Given the description of an element on the screen output the (x, y) to click on. 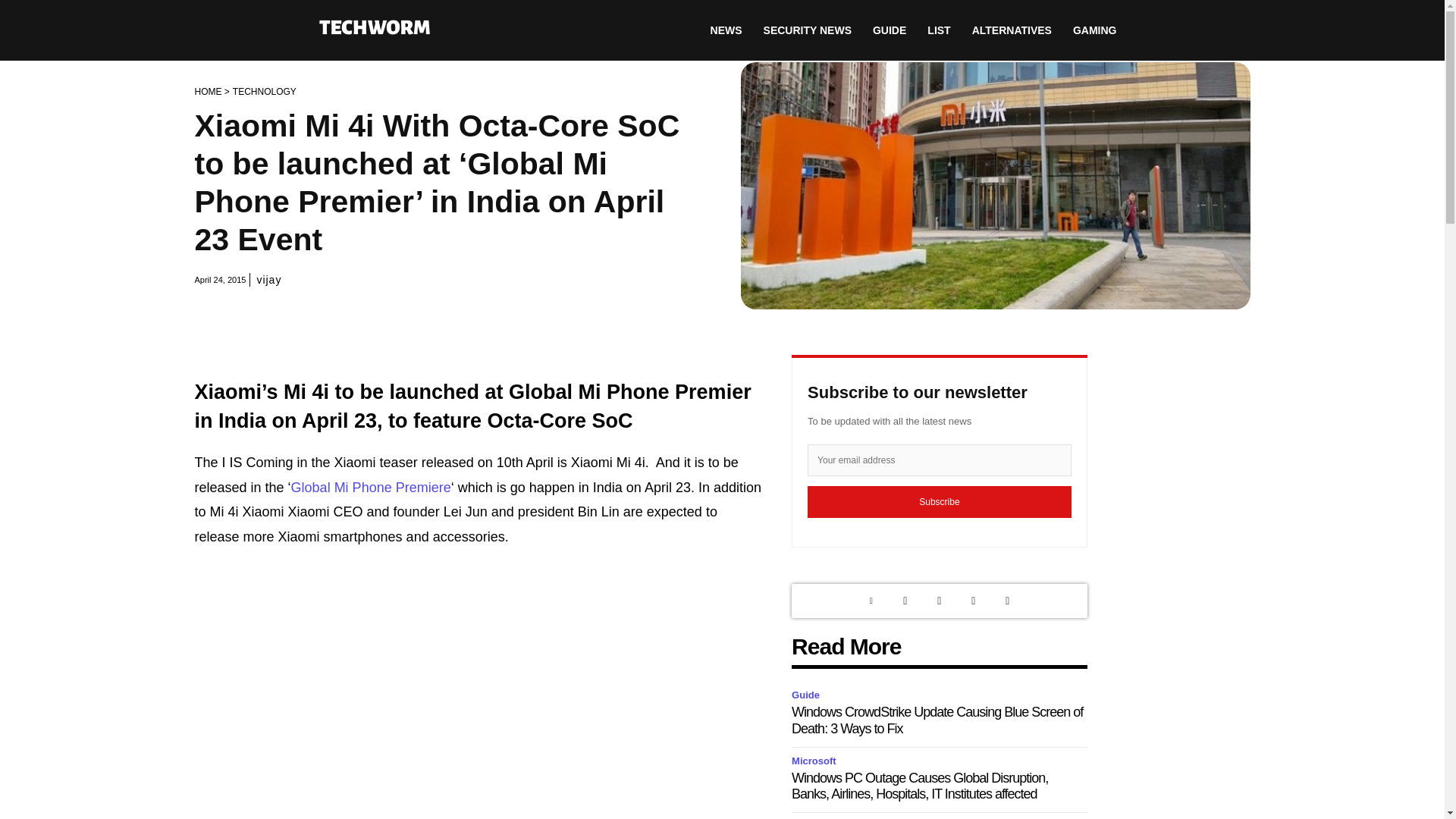
NEWS (726, 30)
ALTERNATIVES (1011, 30)
Subscribe (939, 501)
Instagram (939, 601)
SECURITY NEWS (806, 30)
GUIDE (889, 30)
vijay (268, 279)
View all posts in Technology (264, 91)
Guide (808, 695)
xiaomi mi 4i (994, 185)
TECHNOLOGY (264, 91)
Global Mi Phone Premiere (371, 487)
Facebook (973, 601)
